Given the description of an element on the screen output the (x, y) to click on. 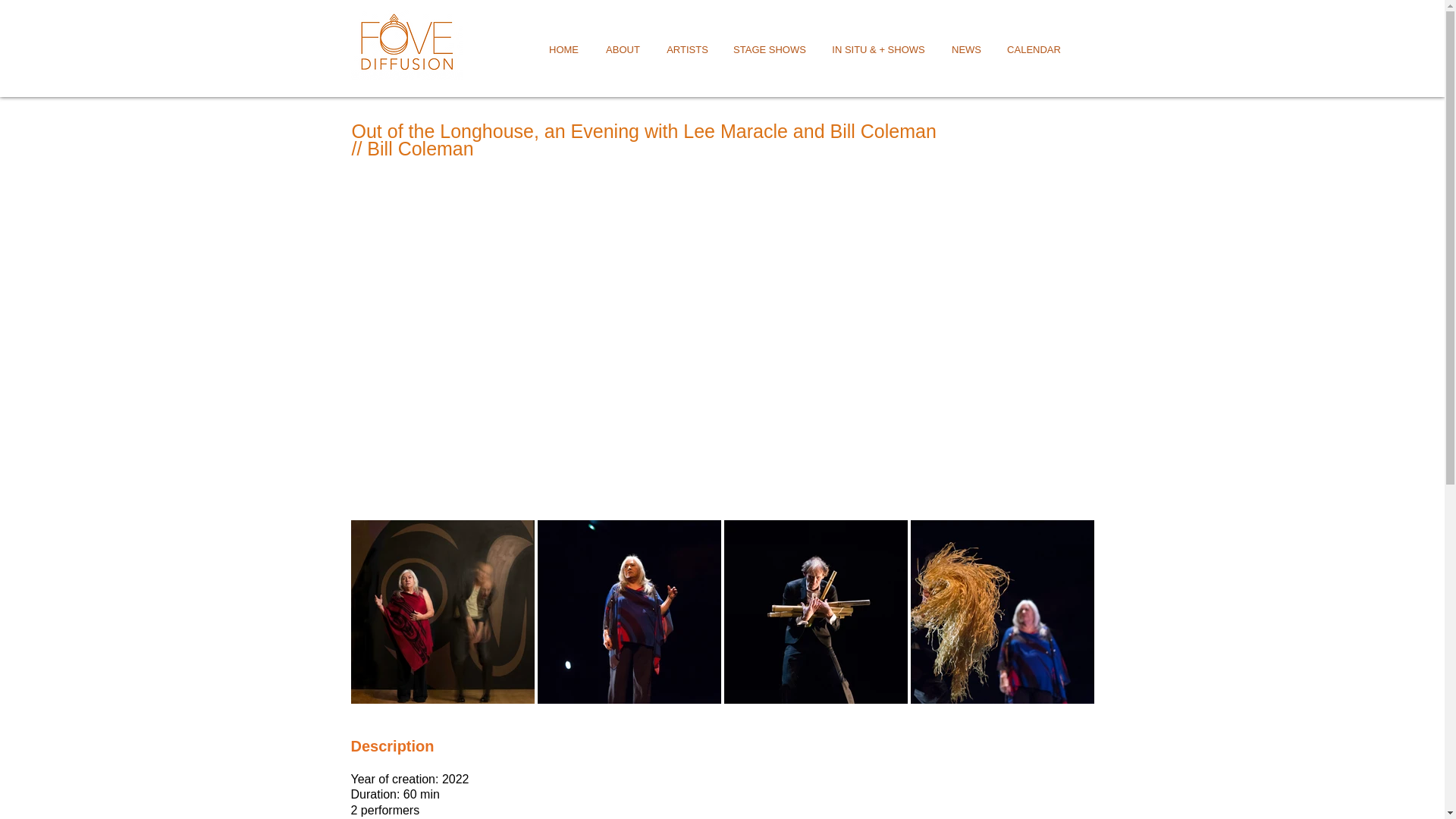
ABOUT (621, 49)
HOME (563, 49)
NEWS (966, 49)
STAGE SHOWS (768, 49)
CALENDAR (1032, 49)
